Given the description of an element on the screen output the (x, y) to click on. 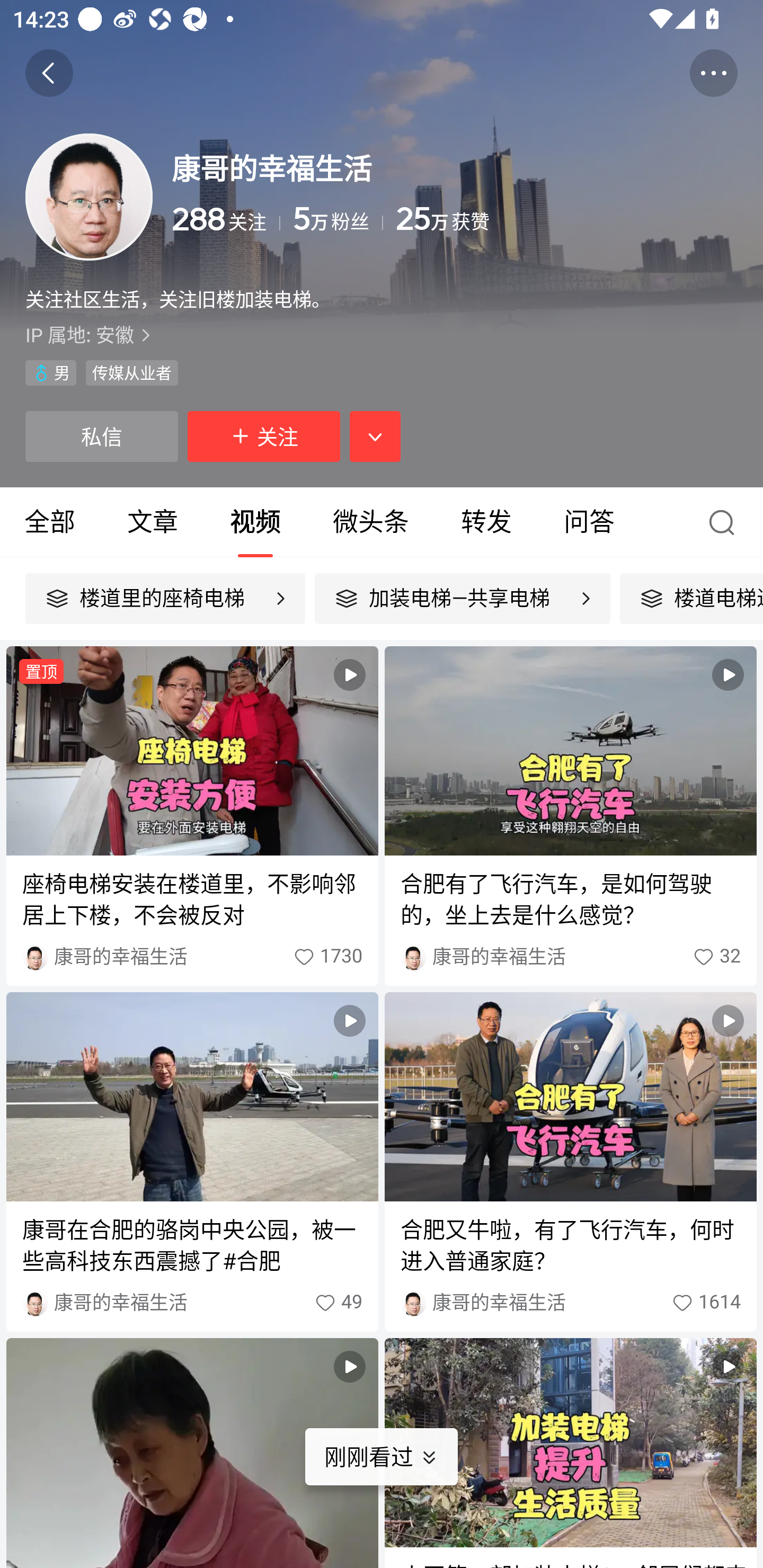
返回 (49, 72)
更多操作 (713, 72)
头像 (88, 196)
288 关注 (225, 219)
5万 粉丝 (337, 219)
25万 获赞 (566, 219)
IP 属地: 安徽 (381, 334)
性别男 男 (50, 372)
传媒从业者 (131, 372)
私信 (101, 436)
     关注 (263, 436)
展开相关推荐，按钮 (374, 436)
全部 (50, 521)
文章 (152, 521)
视频 (254, 521)
微头条 (370, 521)
转发 (485, 521)
问答 (588, 521)
搜索 (726, 521)
楼道里的座椅电梯 (165, 598)
加装电梯—共享电梯 (462, 598)
视频 (192, 1452)
视频 小区第一部加装电梯3：邻居们都来参观，体验带来的好处  (570, 1452)
刚刚看过 (393, 1456)
